Given the description of an element on the screen output the (x, y) to click on. 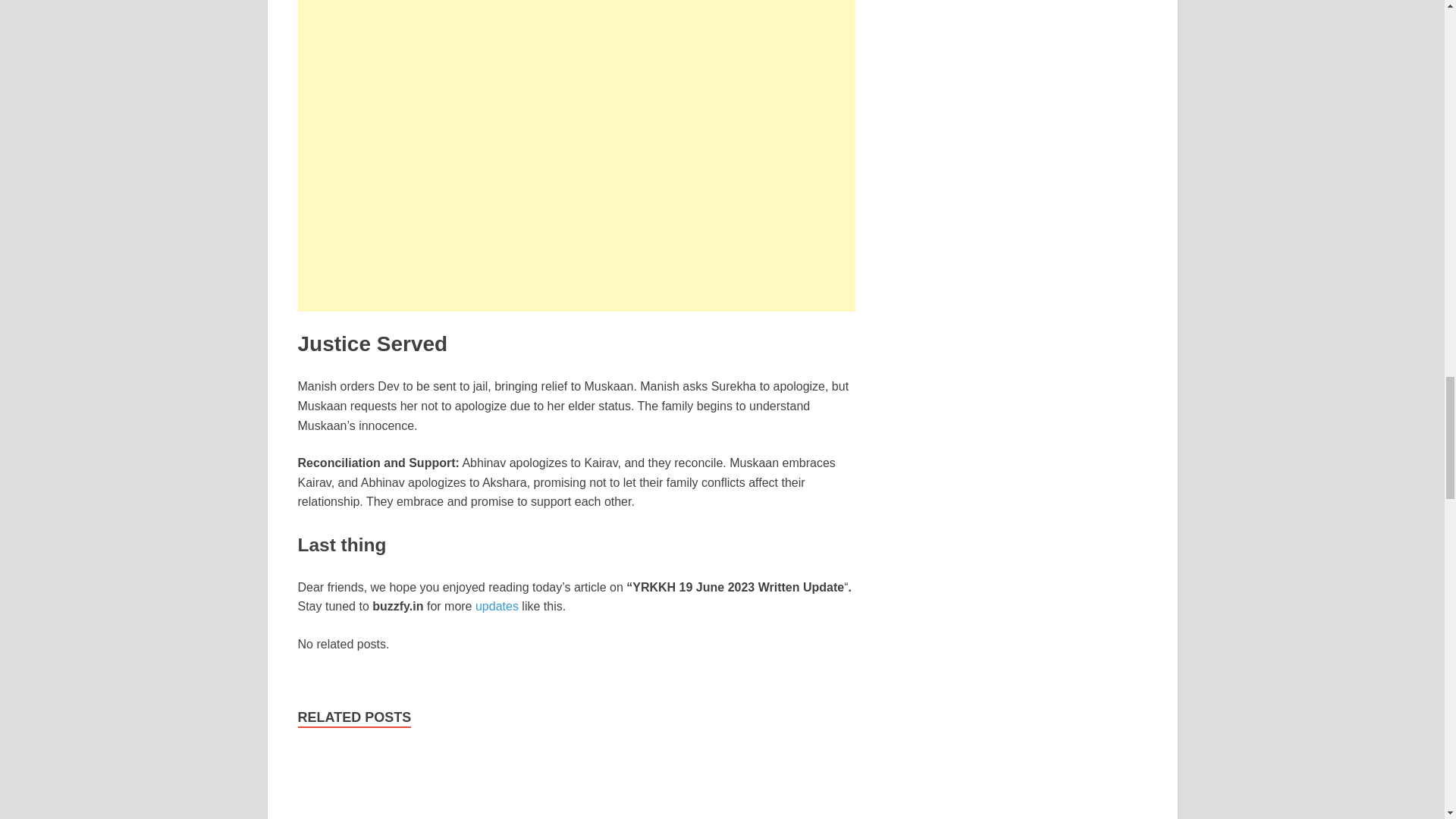
Advertisement (575, 205)
Advertisement (575, 49)
updates (497, 605)
